Given the description of an element on the screen output the (x, y) to click on. 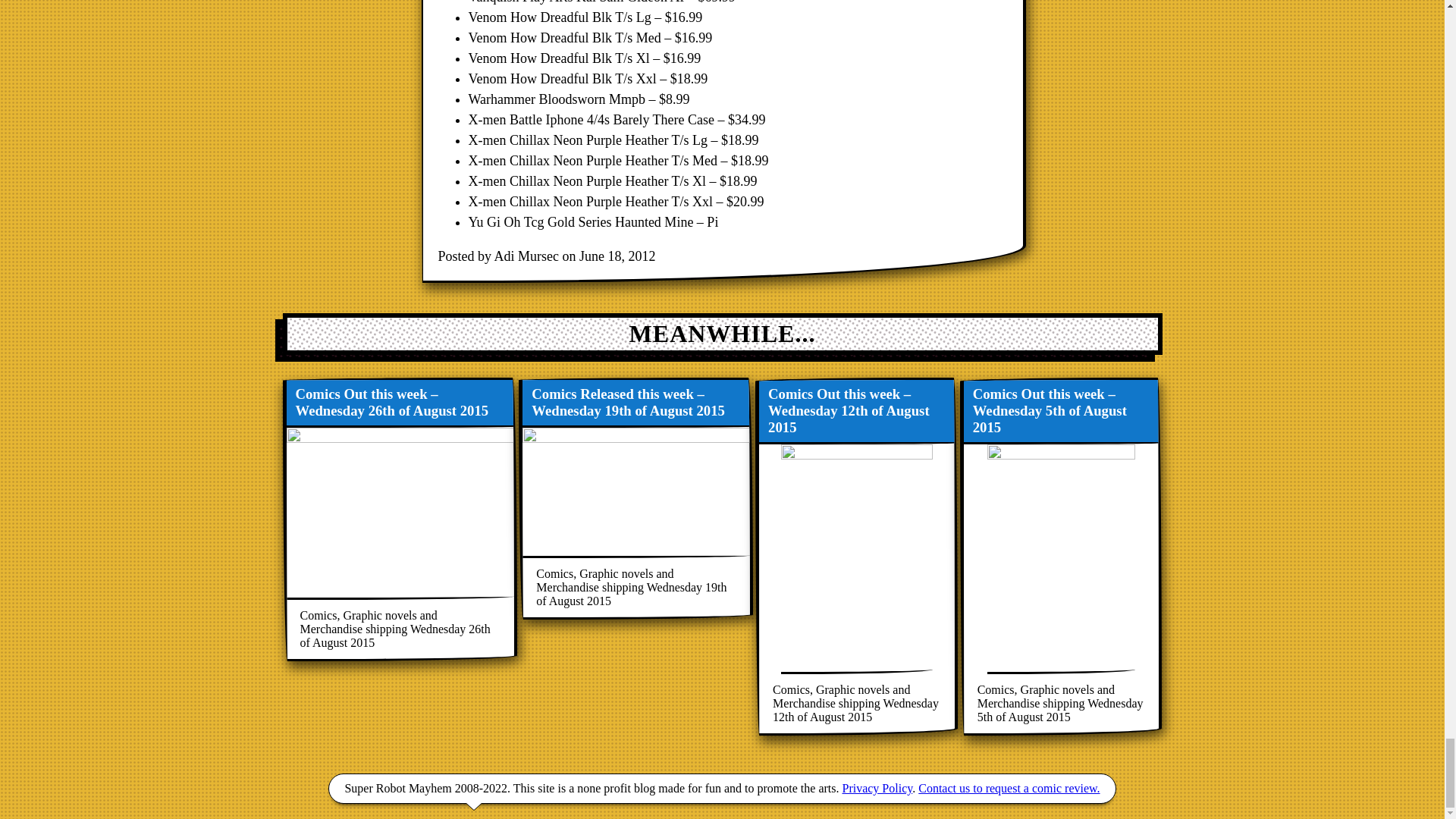
Comics Out this week - Wednesday 12th of August 2015 (856, 556)
Comics Released this week - Wednesday 19th of August 2015 (635, 498)
Privacy Policy (876, 788)
Comics Out this week - Wednesday 5th of August 2015 (1060, 556)
Contact us to request a comic review. (1008, 788)
Comics Out this week - Wednesday 26th of August 2015 (399, 518)
